Given the description of an element on the screen output the (x, y) to click on. 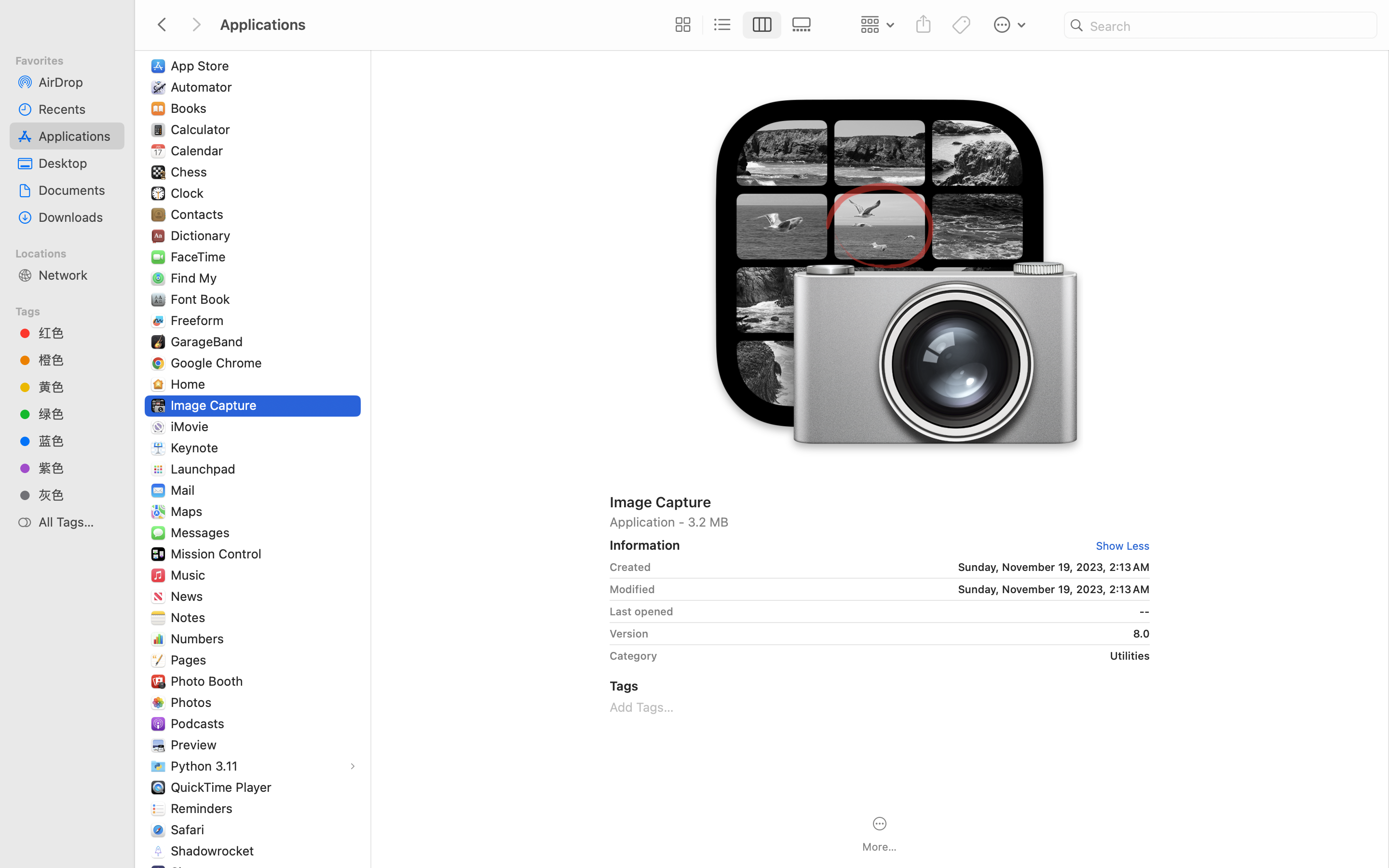
Locations Element type: AXStaticText (72, 252)
Podcasts Element type: AXTextField (199, 723)
Automator Element type: AXTextField (203, 86)
Mail Element type: AXTextField (184, 489)
Desktop Element type: AXStaticText (77, 162)
